Given the description of an element on the screen output the (x, y) to click on. 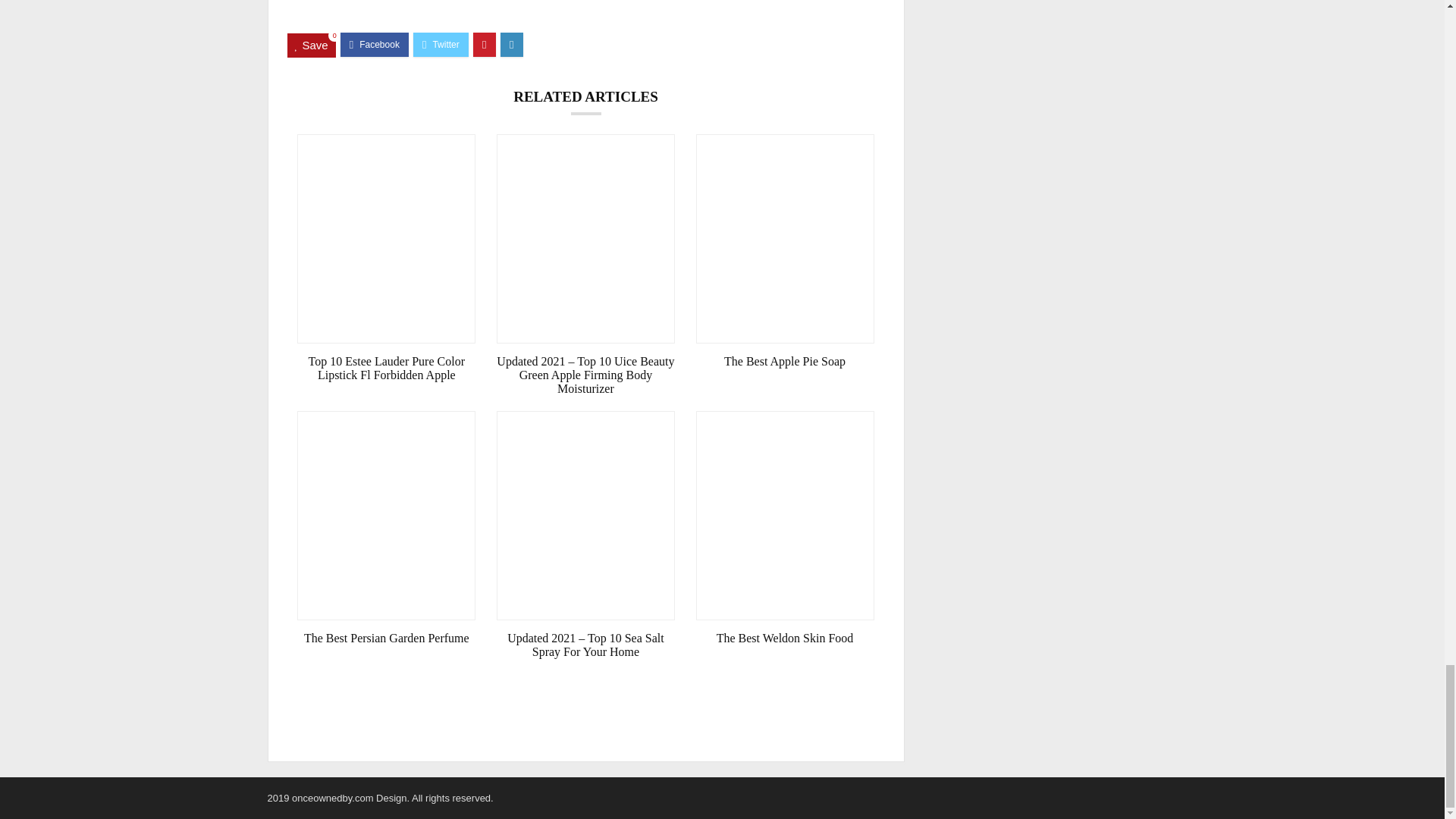
The Best Persian Garden Perfume (386, 638)
Top 10 Estee Lauder Pure Color Lipstick Fl Forbidden Apple (386, 368)
The Best Weldon Skin Food (785, 638)
The Best Apple Pie Soap (785, 361)
